Given the description of an element on the screen output the (x, y) to click on. 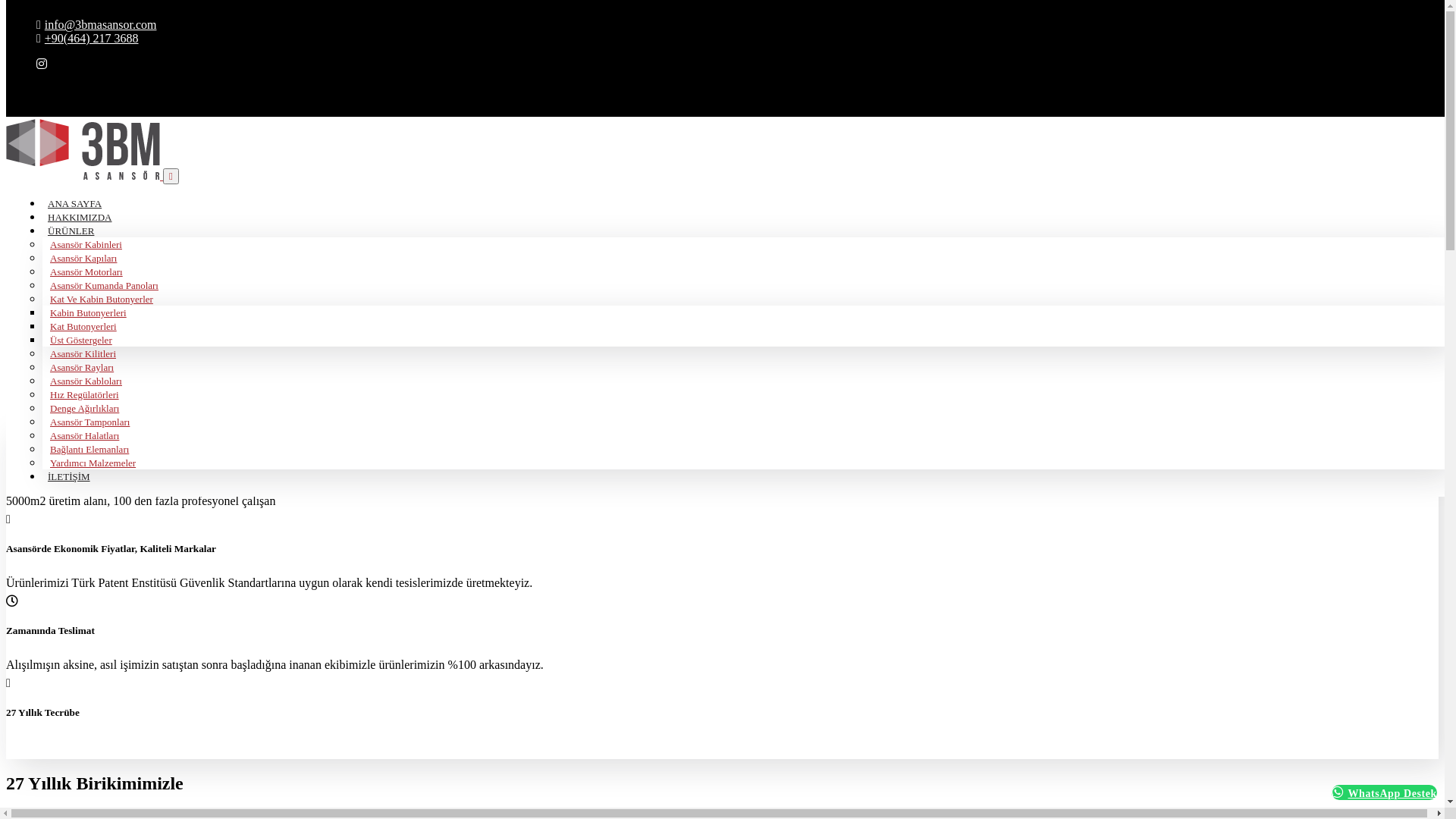
HAKKIMIZDA Element type: text (79, 216)
Kabin Butonyerleri Element type: text (88, 312)
+90(464) 217 3688 Element type: text (87, 37)
WhatsApp Destek Element type: text (1384, 792)
Kat Ve Kabin Butonyerler Element type: text (101, 299)
ANA SAYFA Element type: text (74, 203)
info@3bmasansor.com Element type: text (96, 24)
Kat Butonyerleri Element type: text (83, 326)
